Given the description of an element on the screen output the (x, y) to click on. 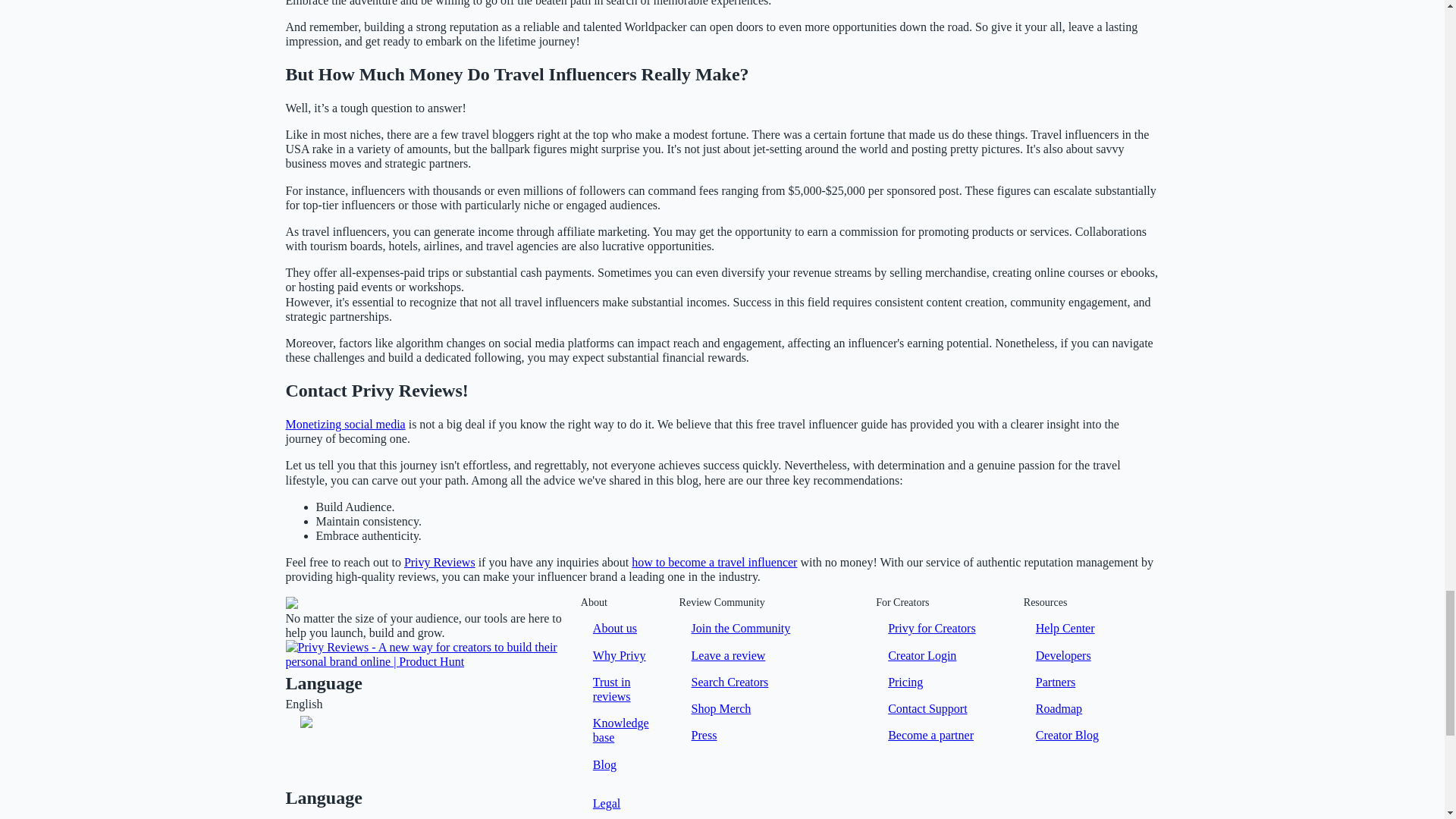
Shop Merch (721, 708)
Roadmap (1058, 708)
Join the Community (740, 627)
Privy for Creators (931, 627)
Press (704, 735)
Knowledge base (623, 729)
Contact Support (927, 708)
Creator Login (922, 655)
About us (614, 627)
Leave a review (728, 655)
Partners (1055, 681)
how to become a travel influencer (713, 562)
Privy Reviews (440, 562)
Pricing (905, 681)
Why Privy (619, 655)
